Given the description of an element on the screen output the (x, y) to click on. 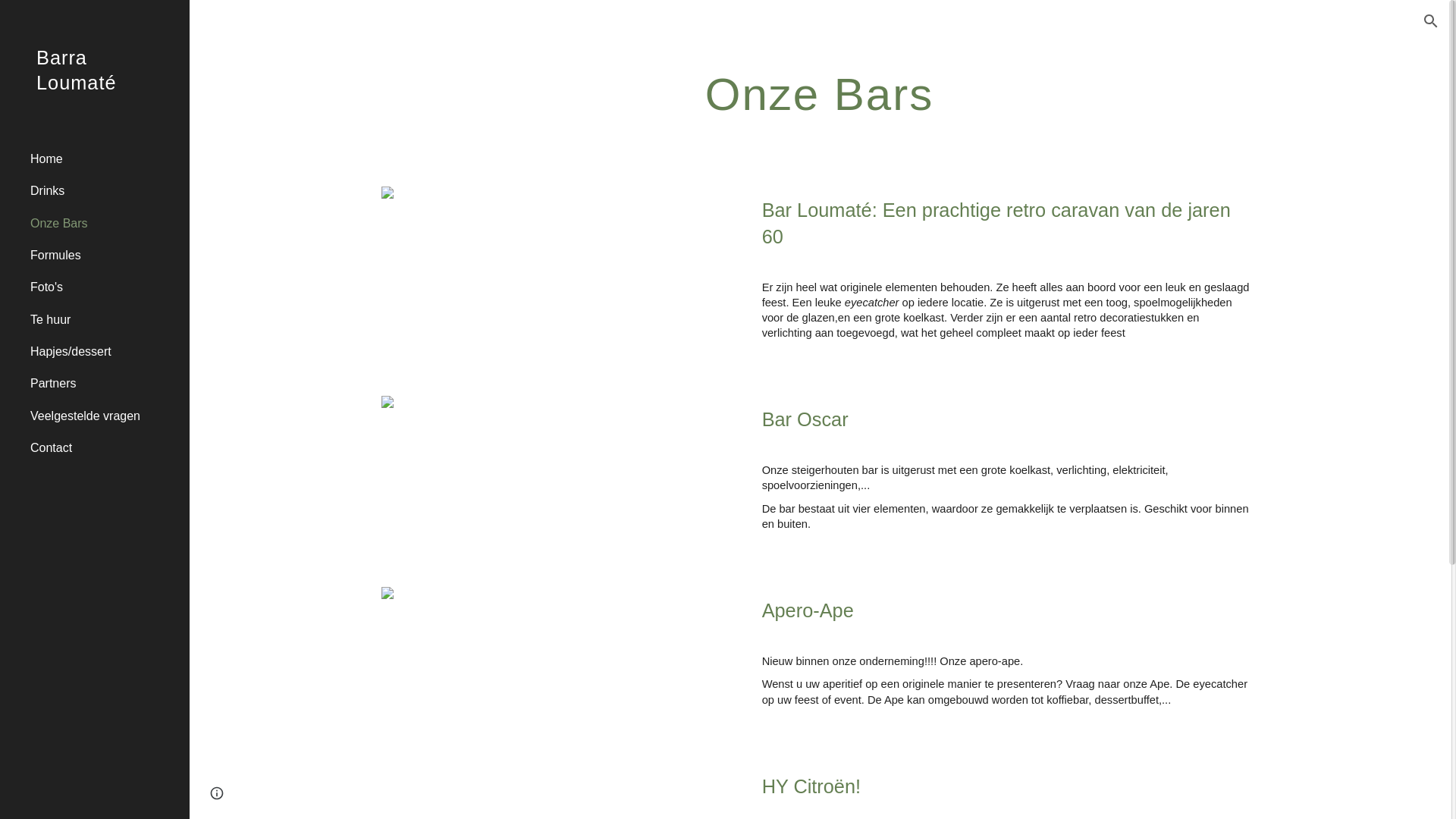
Hapjes/dessert Element type: text (103, 351)
Home Element type: text (103, 158)
Onze Bars Element type: text (103, 222)
Drinks Element type: text (103, 191)
Partners Element type: text (103, 383)
Veelgestelde vragen Element type: text (103, 415)
Te huur Element type: text (103, 319)
Formules Element type: text (103, 254)
Foto's Element type: text (103, 287)
Contact Element type: text (103, 448)
